Given the description of an element on the screen output the (x, y) to click on. 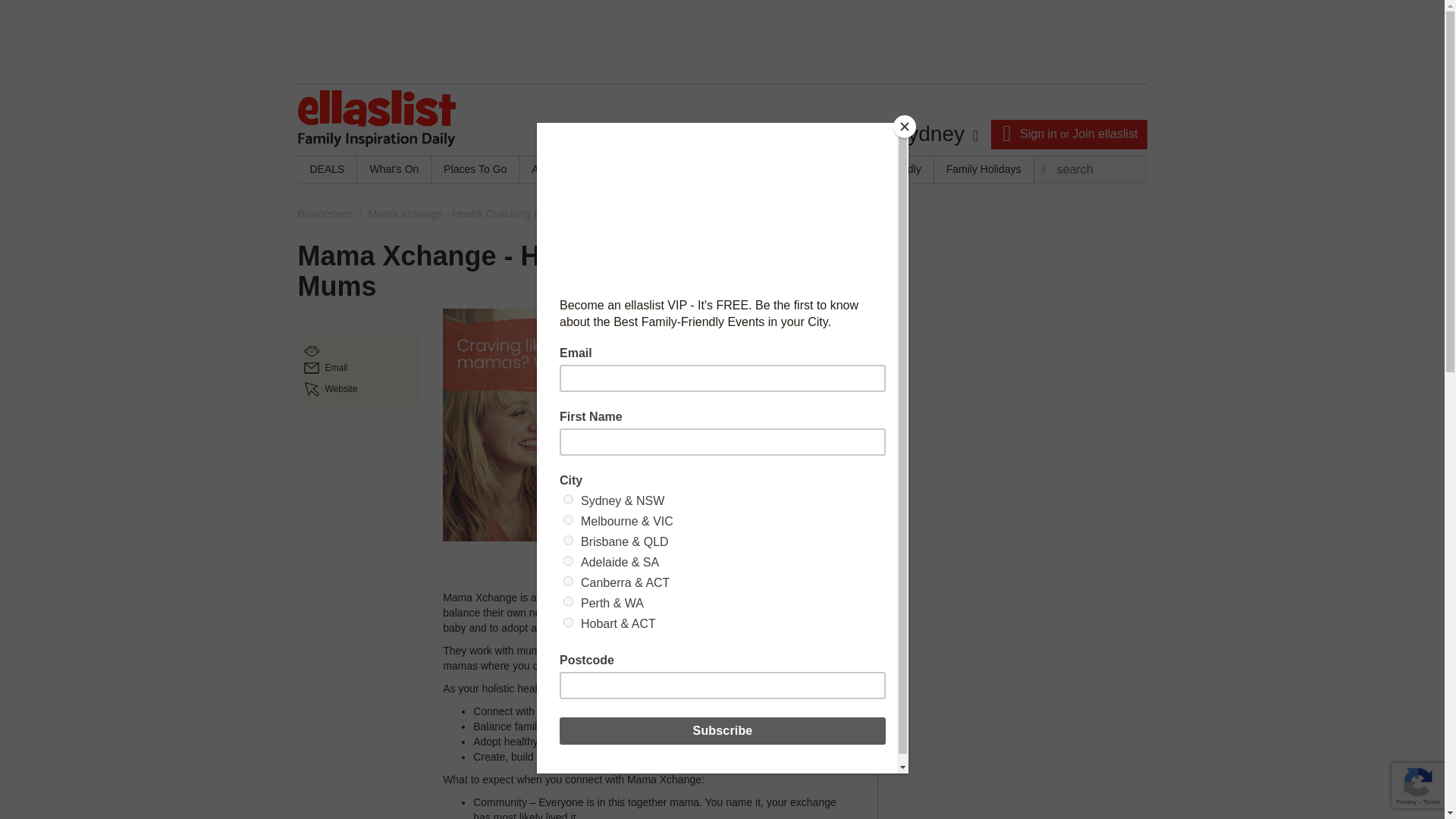
Family Holidays (983, 169)
Sensory-Friendly (880, 169)
Kids Classes (642, 169)
Best Reads (788, 169)
Sydney (935, 133)
3rd party ad content (721, 41)
Website (340, 388)
Schools (716, 169)
Email (335, 367)
What's On (393, 169)
DEALS (326, 169)
3rd party ad content (1012, 335)
Places To Go (474, 169)
Businesses (324, 214)
Sign in (1038, 133)
